Given the description of an element on the screen output the (x, y) to click on. 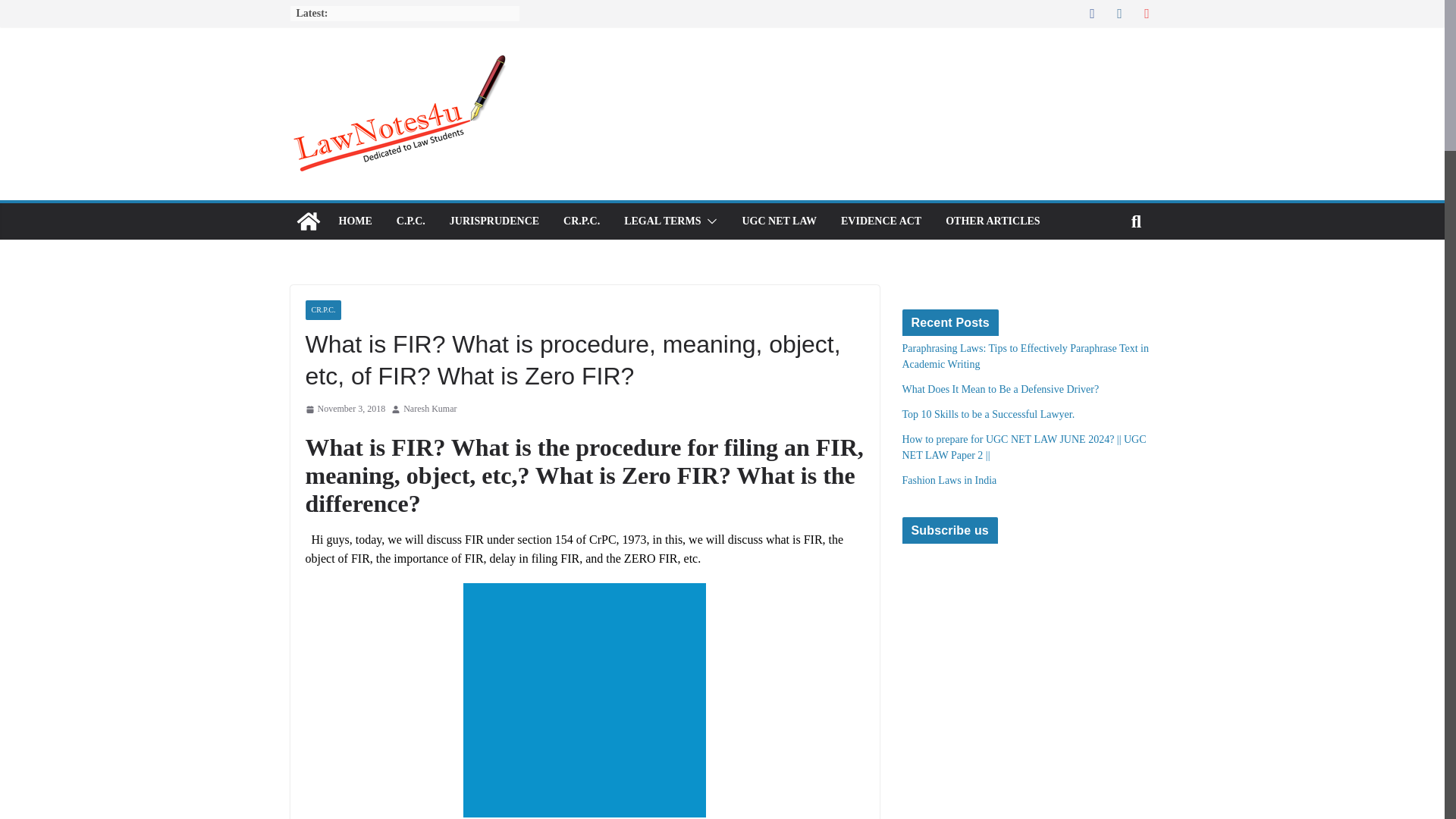
Naresh Kumar (430, 409)
November 3, 2018 (344, 409)
EVIDENCE ACT (881, 220)
CR.P.C. (322, 310)
Naresh Kumar (430, 409)
3:33 pm (344, 409)
UGC NET LAW (778, 220)
JURISPRUDENCE (493, 220)
HOME (354, 220)
